Given the description of an element on the screen output the (x, y) to click on. 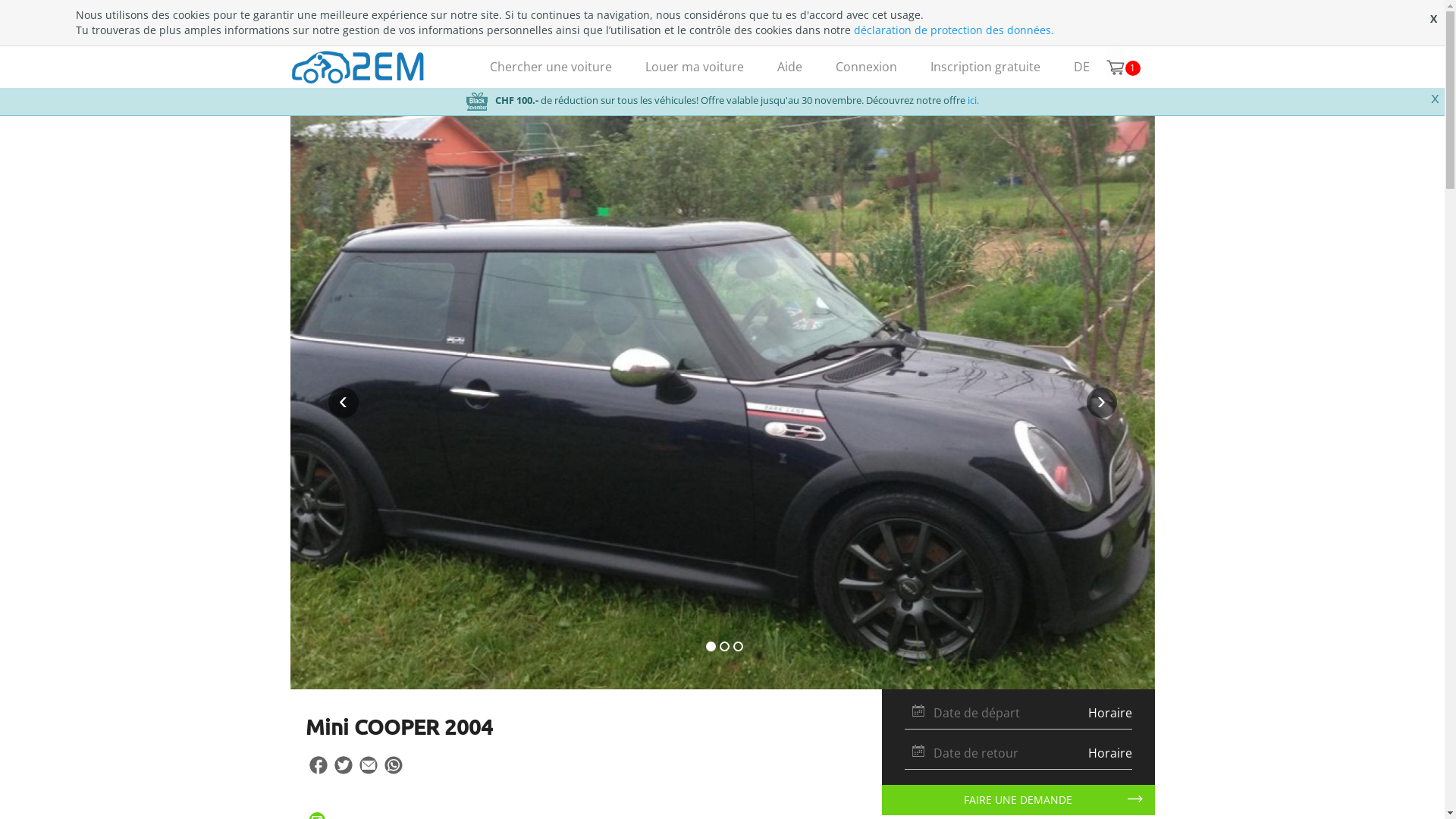
1 Element type: text (1114, 61)
FAIRE UNE DEMANDE Element type: text (1017, 799)
Aide Element type: text (788, 66)
DE Element type: text (1081, 66)
Connexion Element type: text (866, 66)
Inscription gratuite Element type: text (984, 66)
Mini COOPER 2004 Element type: text (398, 726)
ici. Element type: text (973, 99)
Chercher une voiture Element type: text (550, 66)
Louer ma voiture Element type: text (693, 66)
